Given the description of an element on the screen output the (x, y) to click on. 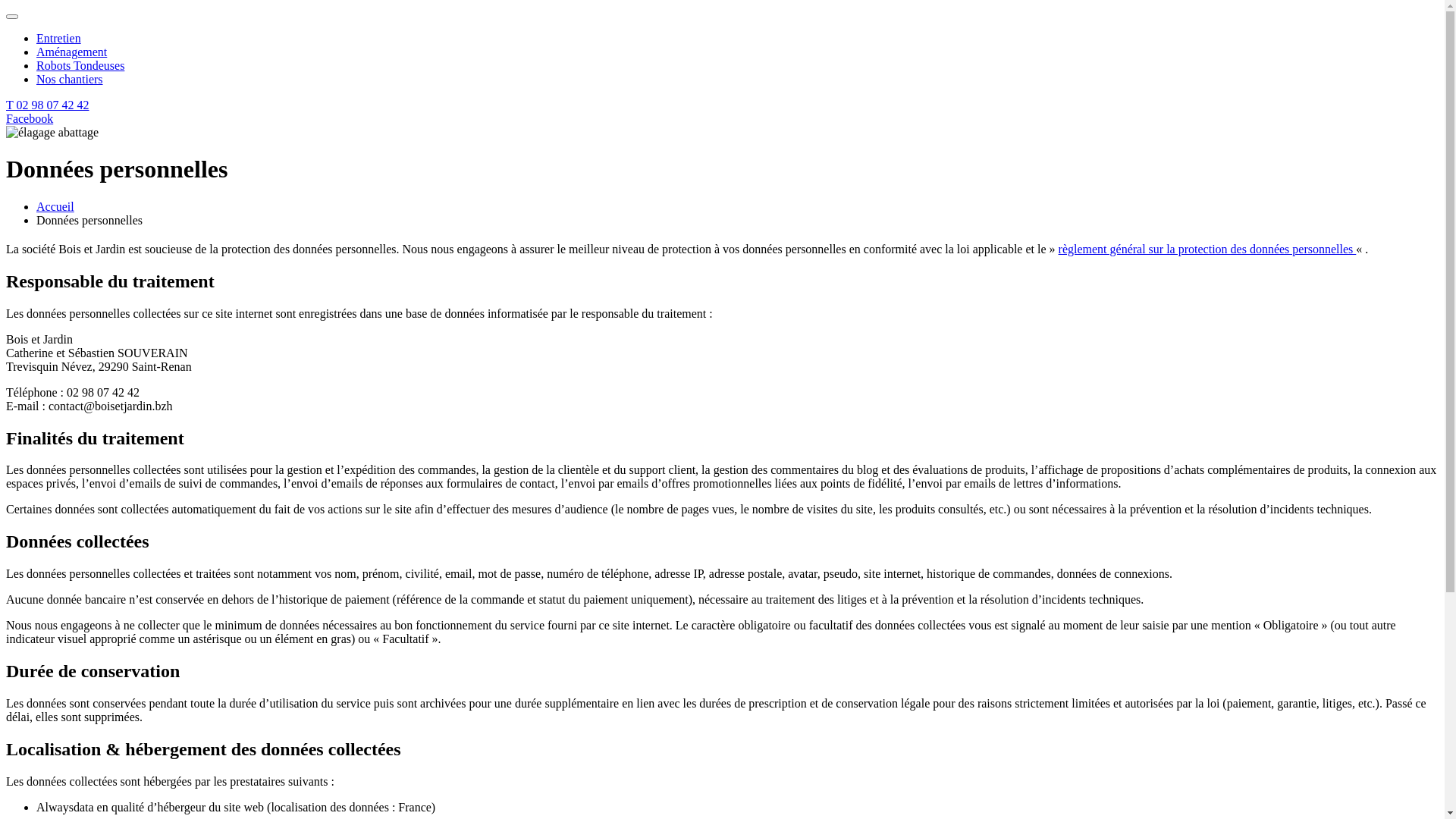
T 02 98 07 42 42 Element type: text (47, 104)
Nos chantiers Element type: text (69, 78)
Accueil Element type: text (55, 206)
Robots Tondeuses Element type: text (80, 65)
Entretien Element type: text (58, 37)
Facebook Element type: text (29, 118)
